Given the description of an element on the screen output the (x, y) to click on. 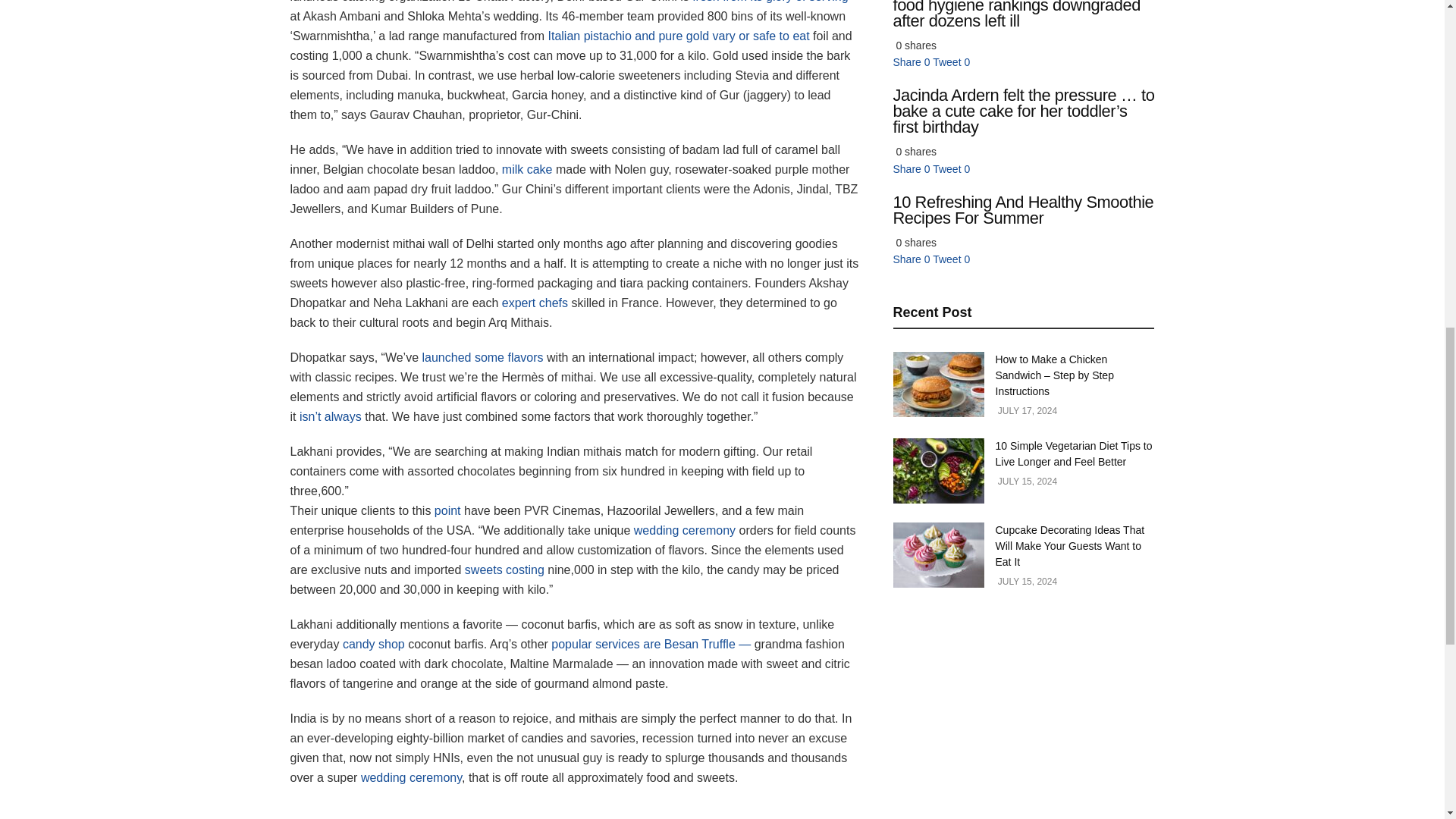
How to Make a Chicken Sandwich - Step by Step Instructions 4 (938, 384)
